Given the description of an element on the screen output the (x, y) to click on. 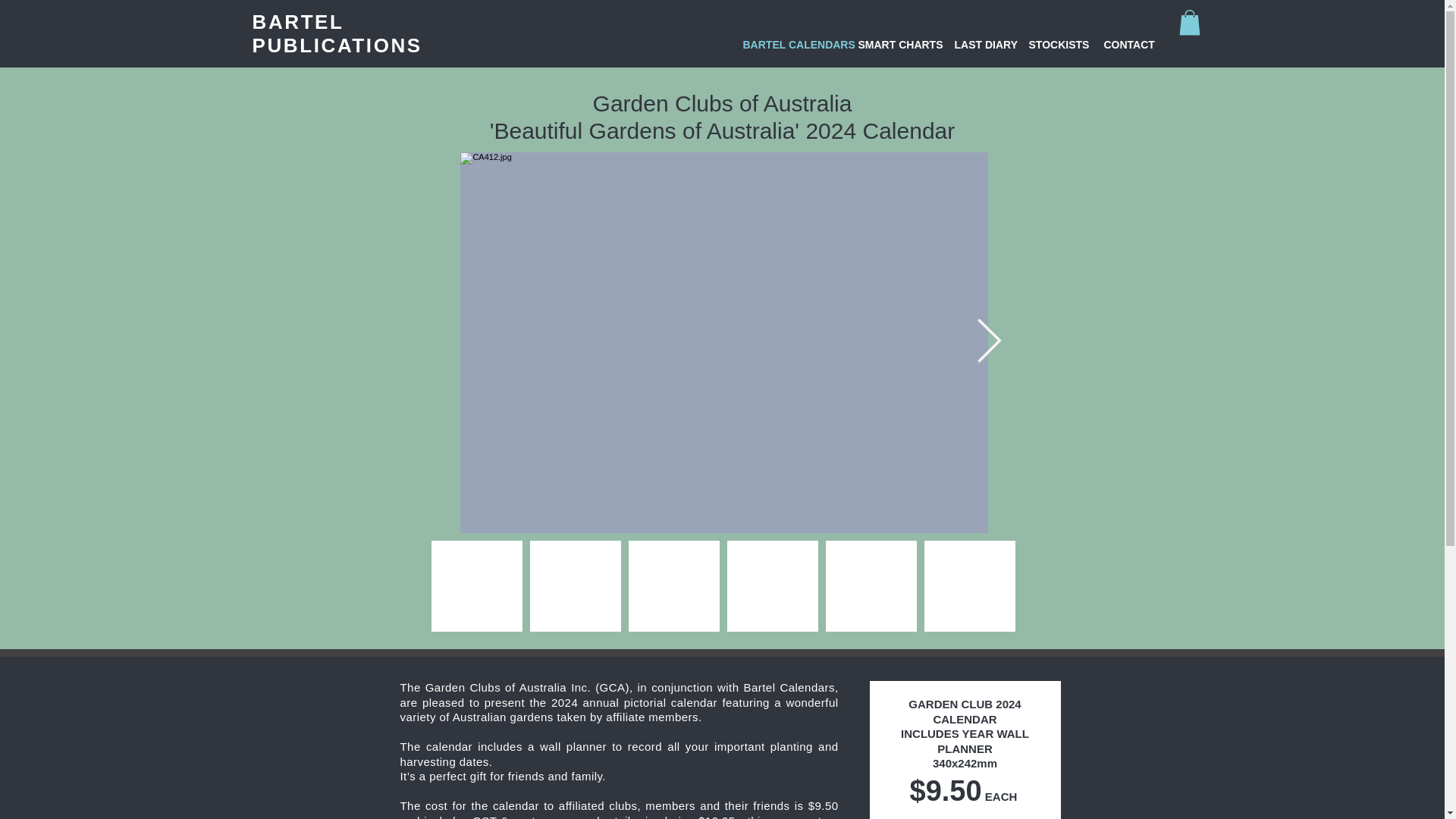
CONTACT (1127, 44)
LAST DIARY (980, 44)
BARTEL PUBLICATIONS (336, 33)
BARTEL CALENDARS (787, 44)
STOCKISTS (1055, 44)
SMART CHARTS (893, 44)
